Given the description of an element on the screen output the (x, y) to click on. 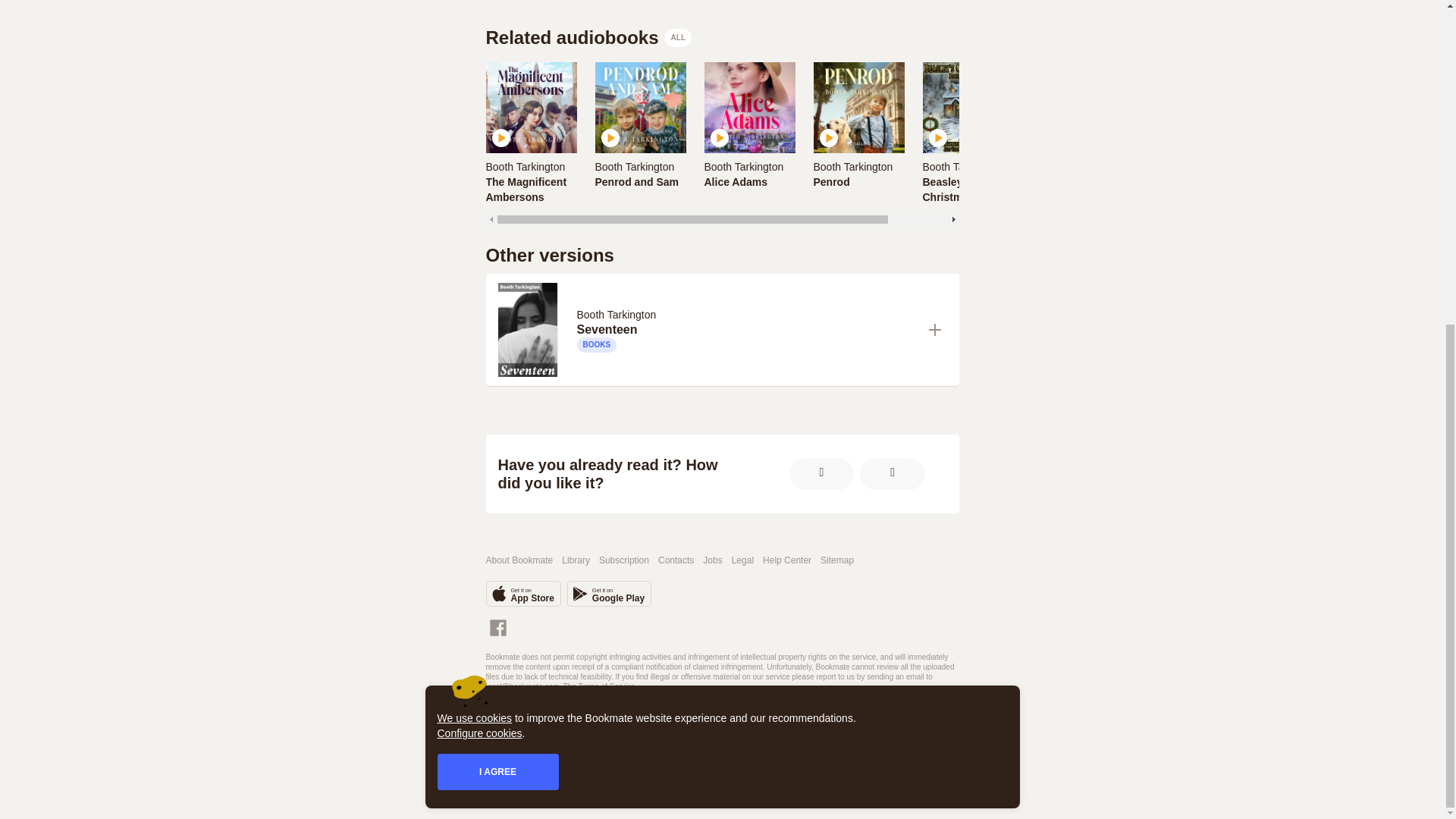
Seventeen (745, 329)
Seventeen (745, 329)
Booth Tarkington (855, 165)
Booth Tarkington (527, 165)
Booth Tarkington (852, 166)
Penrod (858, 181)
The Magnificent Ambersons (748, 133)
Beasley's Christmas Party (530, 189)
The Magnificent Ambersons (967, 189)
Contacts (530, 189)
Booth Tarkington (676, 560)
Library (587, 37)
Subscription (634, 166)
